Given the description of an element on the screen output the (x, y) to click on. 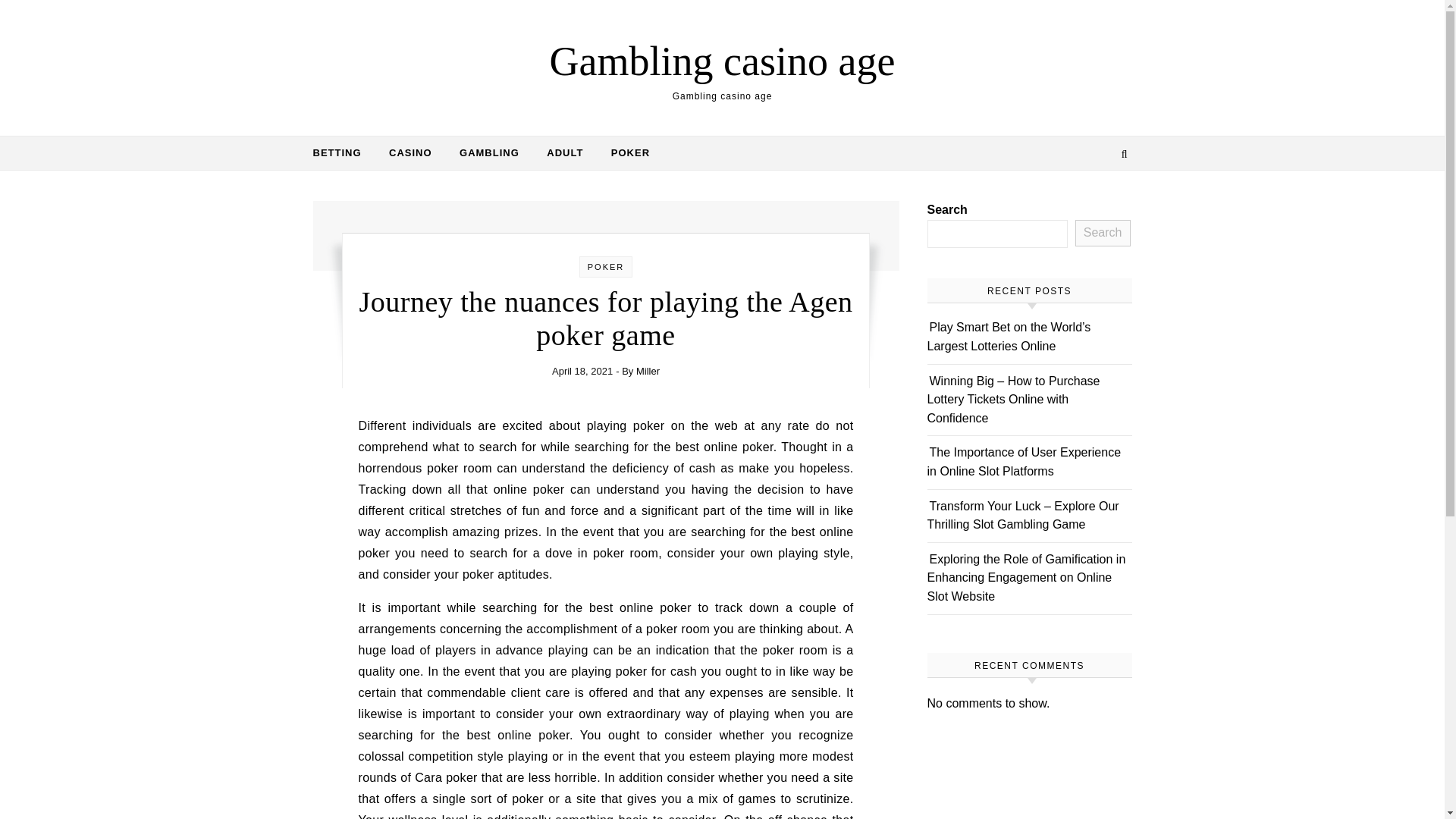
POKER (623, 152)
CASINO (410, 152)
Miller (647, 370)
Search (1103, 233)
POKER (606, 266)
BETTING (342, 152)
Posts by Miller (647, 370)
The Importance of User Experience in Online Slot Platforms (1023, 461)
ADULT (564, 152)
